Given the description of an element on the screen output the (x, y) to click on. 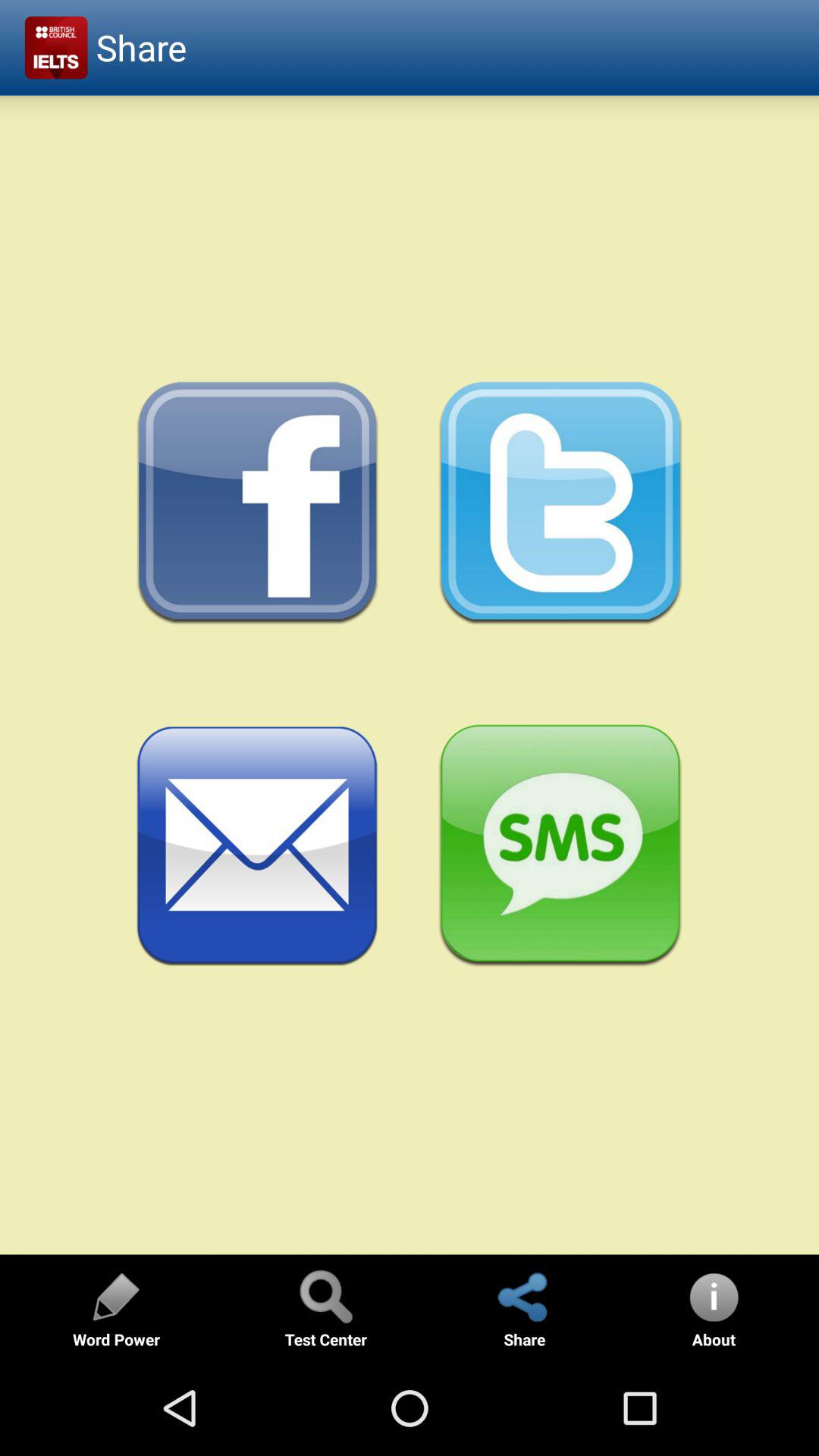
select twitter (560, 503)
